Given the description of an element on the screen output the (x, y) to click on. 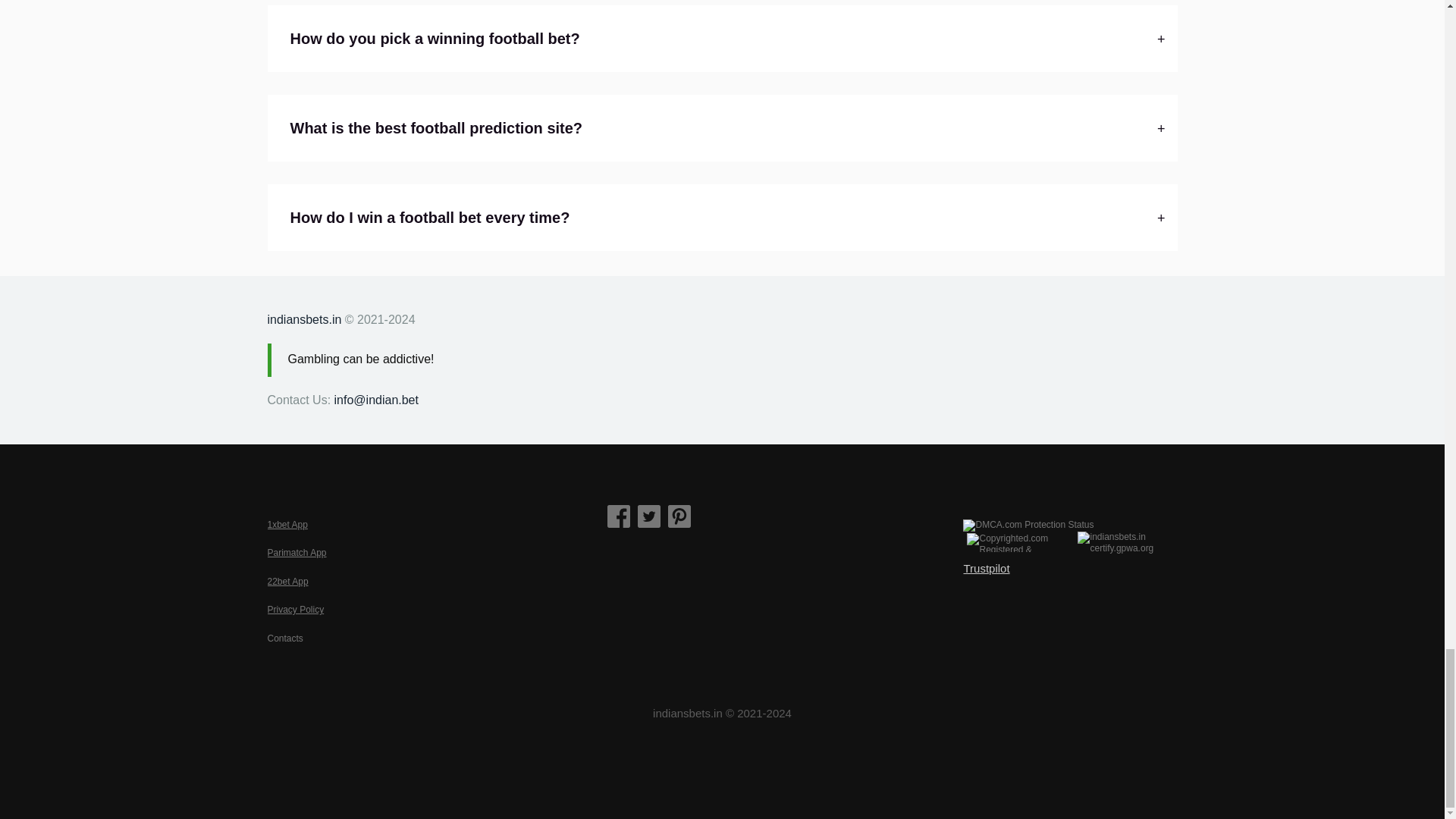
DMCA.com Protection Status (1027, 525)
Facebook (618, 517)
Twitter (649, 517)
Pinterest (679, 517)
